Given the description of an element on the screen output the (x, y) to click on. 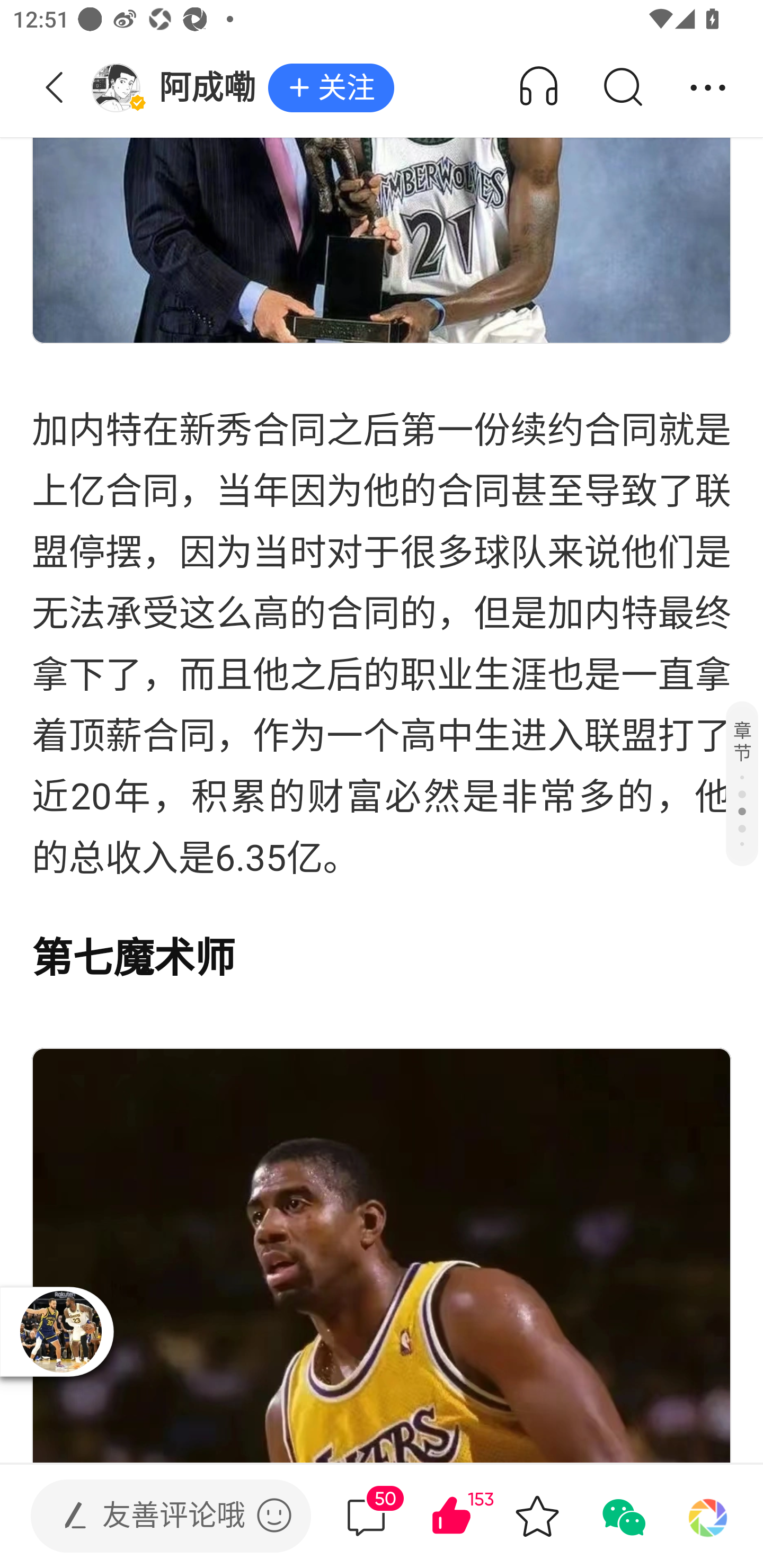
新闻图片 (381, 171)
阿成嘞 (179, 87)
搜索  (622, 87)
分享  (707, 87)
 返回 (54, 87)
 关注 (330, 88)
章节 (741, 782)
新闻图片 (381, 1254)
播放器 (60, 1331)
发表评论  友善评论哦 发表评论  (155, 1516)
50评论  50 评论 (365, 1516)
已赞 (476, 1516)
收藏  (536, 1516)
分享到微信  (622, 1516)
分享到朋友圈 (707, 1516)
 (274, 1515)
